Given the description of an element on the screen output the (x, y) to click on. 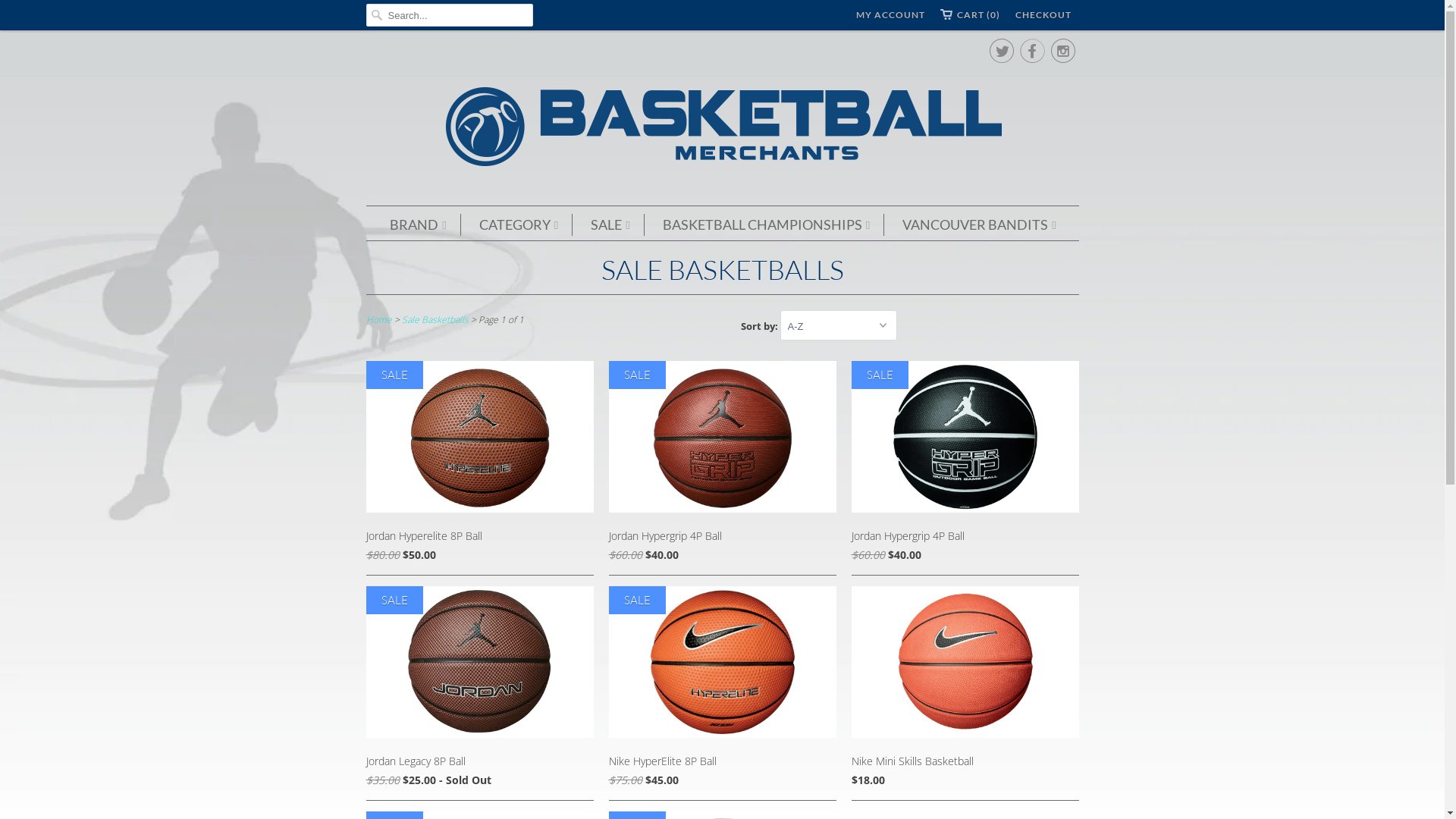
CHECKOUT Element type: text (1042, 14)
Jordan Hypergrip 4P Ball
$60.00 $40.00
SALE Element type: text (964, 464)
Jordan Hyperelite 8P Ball
$80.00 $50.00
SALE Element type: text (479, 464)
Jordan Hypergrip 4P Ball
$60.00 $40.00
SALE Element type: text (721, 464)
Sale Basketballs Element type: text (434, 319)
SALE BASKETBALLS Element type: text (721, 268)
Nike Mini Skills Basketball
$18.00 Element type: text (964, 690)
Nike HyperElite 8P Ball
$75.00 $45.00
SALE Element type: text (721, 690)
CART (0) Element type: text (970, 14)
MY ACCOUNT Element type: text (889, 14)
Home Element type: text (378, 319)
ATO Basketball Merchants Element type: hover (721, 129)
Jordan Legacy 8P Ball
$35.00 $25.00 - Sold Out
SALE Element type: text (479, 690)
